Given the description of an element on the screen output the (x, y) to click on. 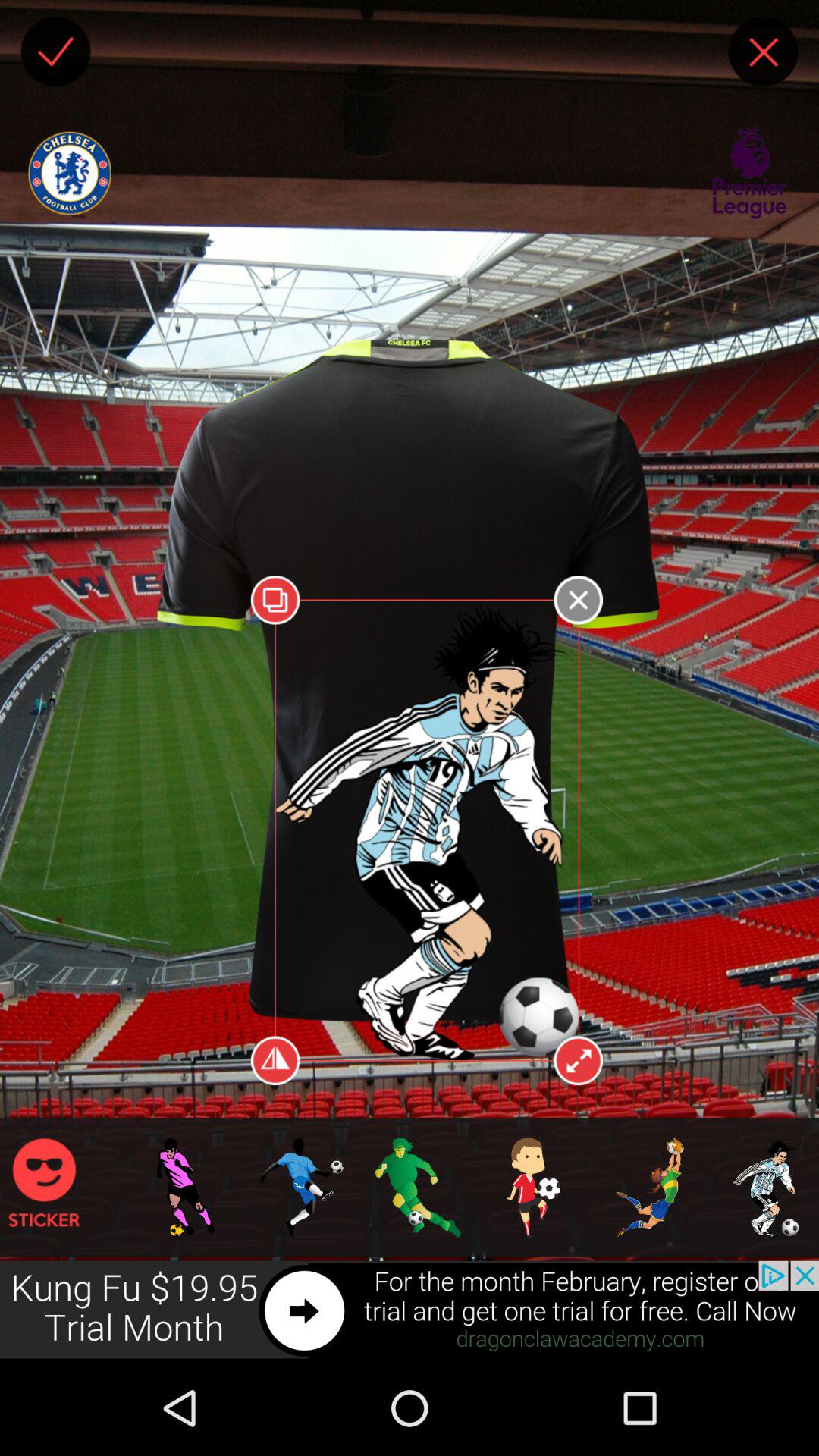
selected drill (149, 969)
